Given the description of an element on the screen output the (x, y) to click on. 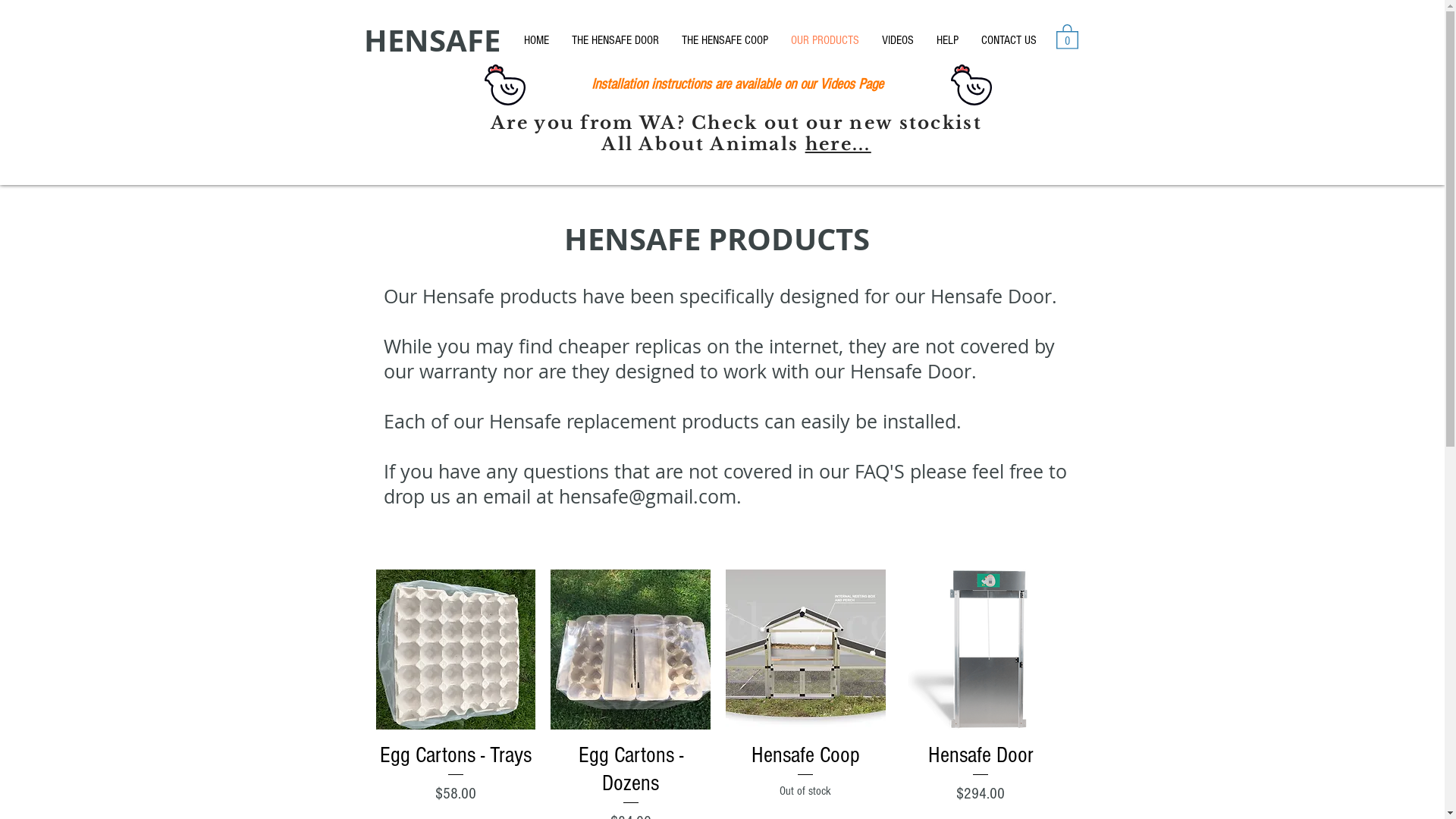
HENSAFE Element type: text (432, 39)
0 Element type: text (1066, 35)
HELP Element type: text (947, 40)
HENSAFE PRODUCTS Element type: text (716, 238)
THE HENSAFE DOOR Element type: text (614, 40)
VIDEOS Element type: text (897, 40)
THE HENSAFE COOP Element type: text (724, 40)
HOME Element type: text (536, 40)
CONTACT US Element type: text (1008, 40)
hensafe@gmail.com Element type: text (646, 495)
OUR PRODUCTS Element type: text (824, 40)
here... Element type: text (838, 143)
